Given the description of an element on the screen output the (x, y) to click on. 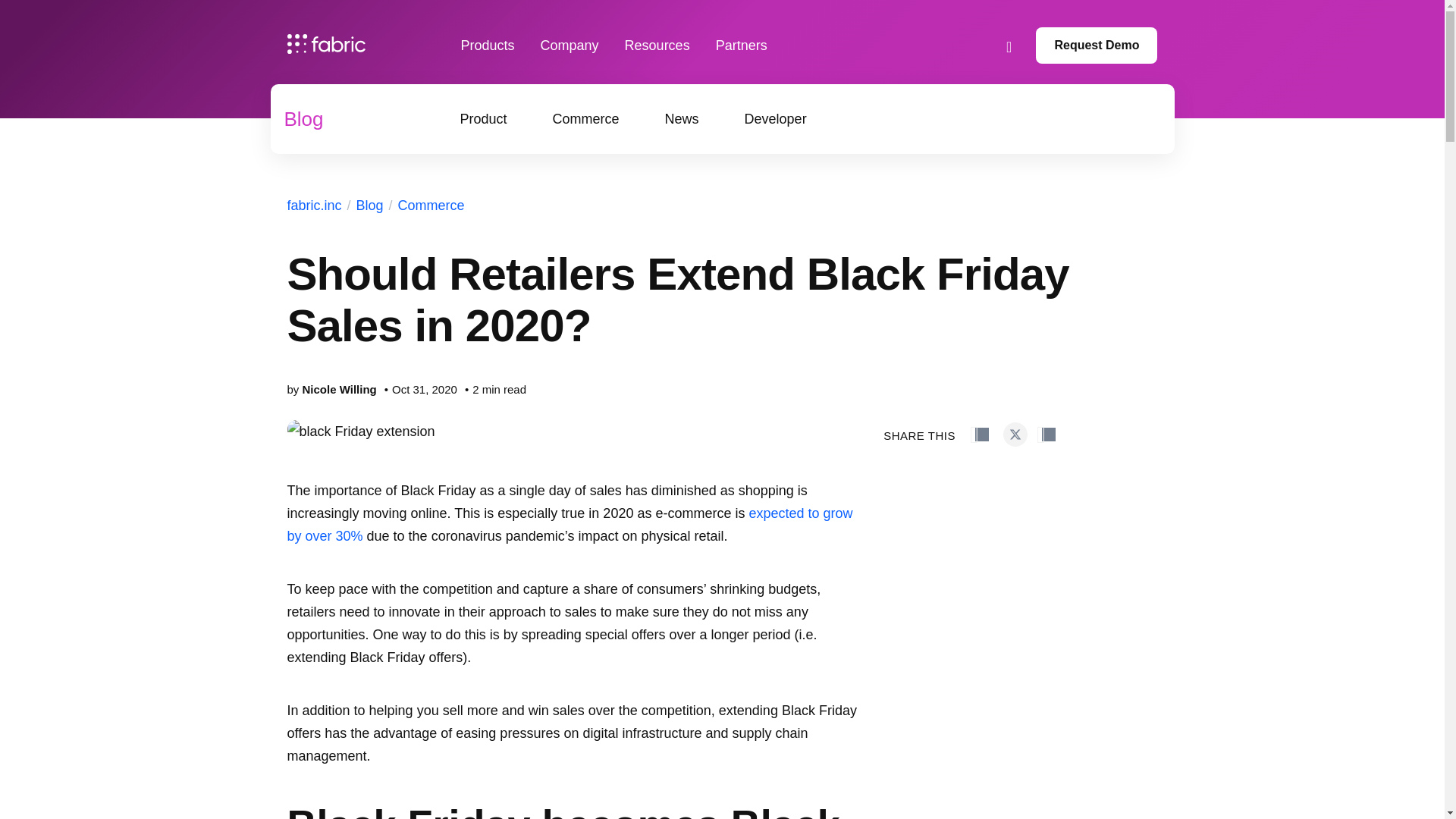
Partners (741, 45)
Company (569, 45)
Request Demo (1096, 45)
Products (488, 45)
Resources (657, 45)
